Given the description of an element on the screen output the (x, y) to click on. 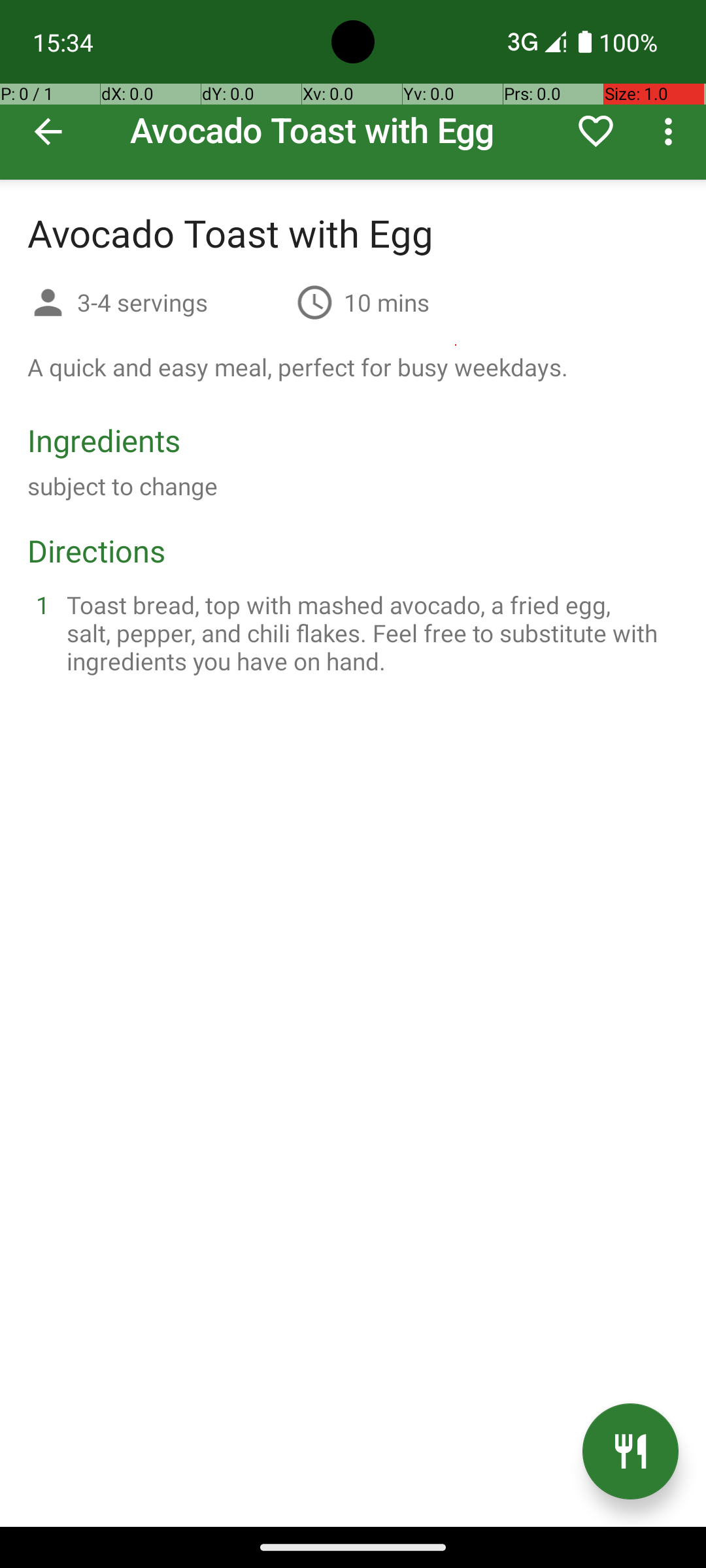
subject to change Element type: android.widget.TextView (122, 485)
